Given the description of an element on the screen output the (x, y) to click on. 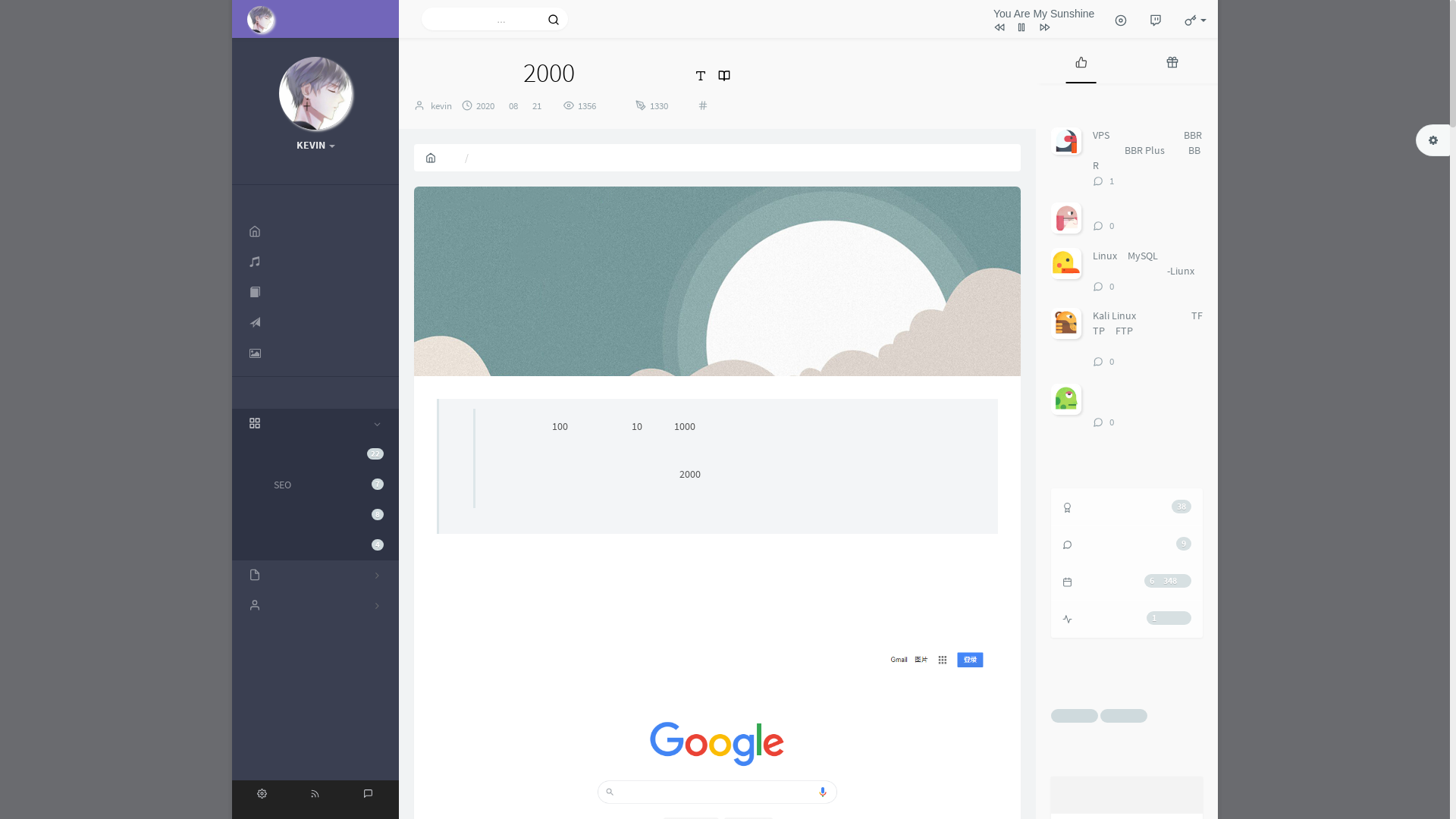
kevin Element type: text (440, 105)
